Given the description of an element on the screen output the (x, y) to click on. 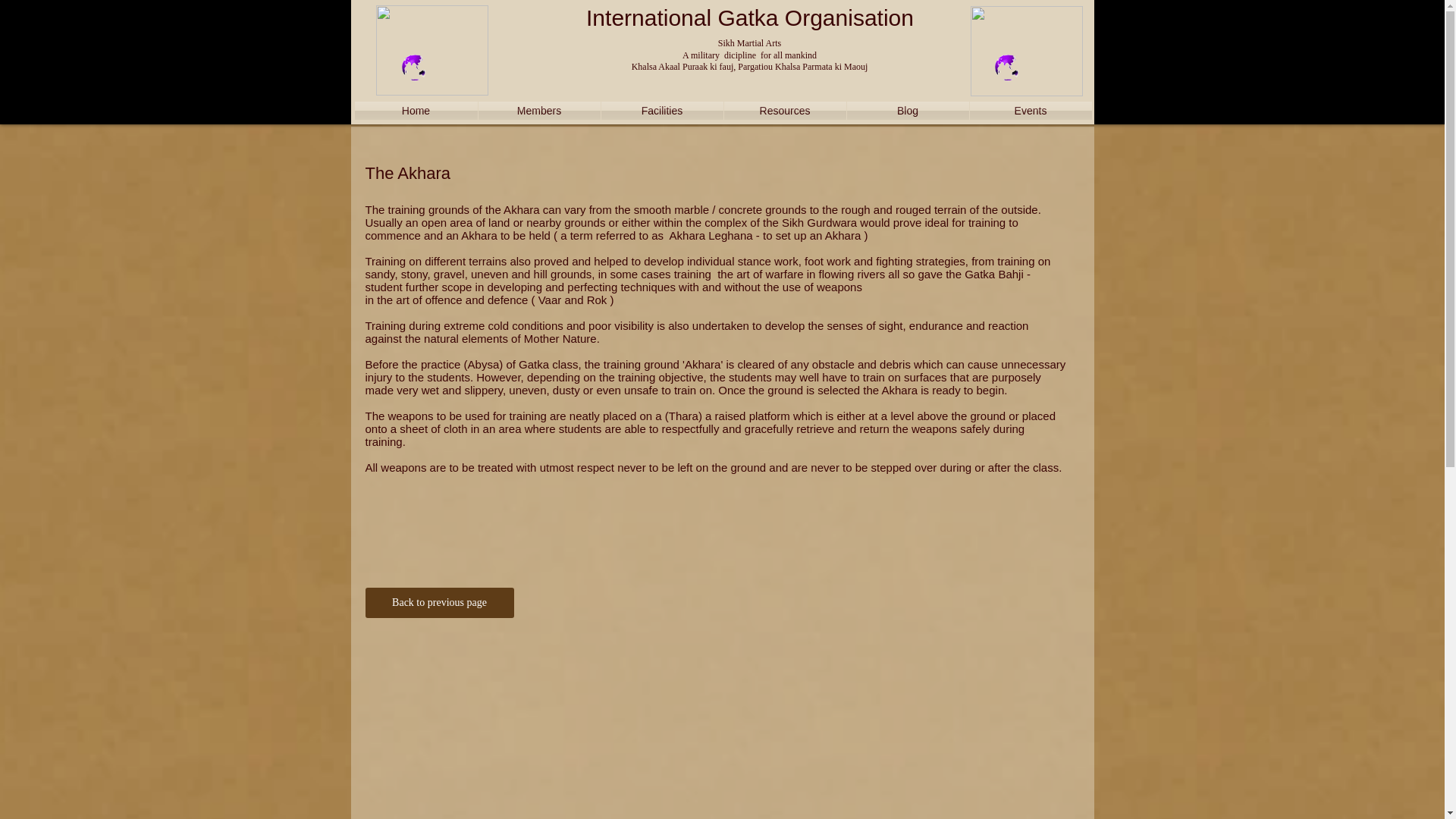
Events (1029, 110)
Facilities (660, 110)
Home (416, 110)
Blog (906, 110)
Resources (784, 110)
Members (538, 110)
Back to previous page (439, 603)
